Given the description of an element on the screen output the (x, y) to click on. 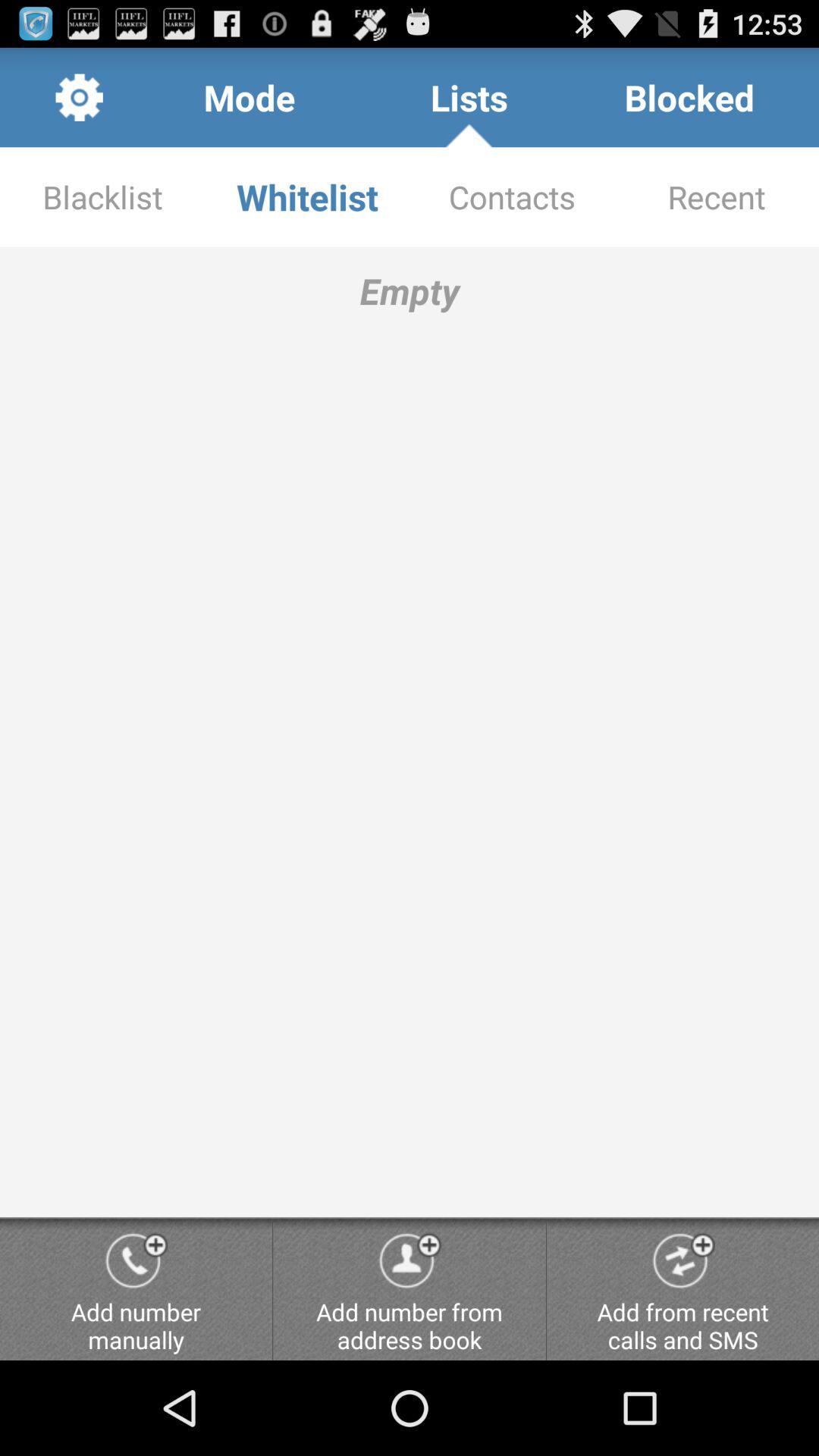
tap contacts item (511, 196)
